Given the description of an element on the screen output the (x, y) to click on. 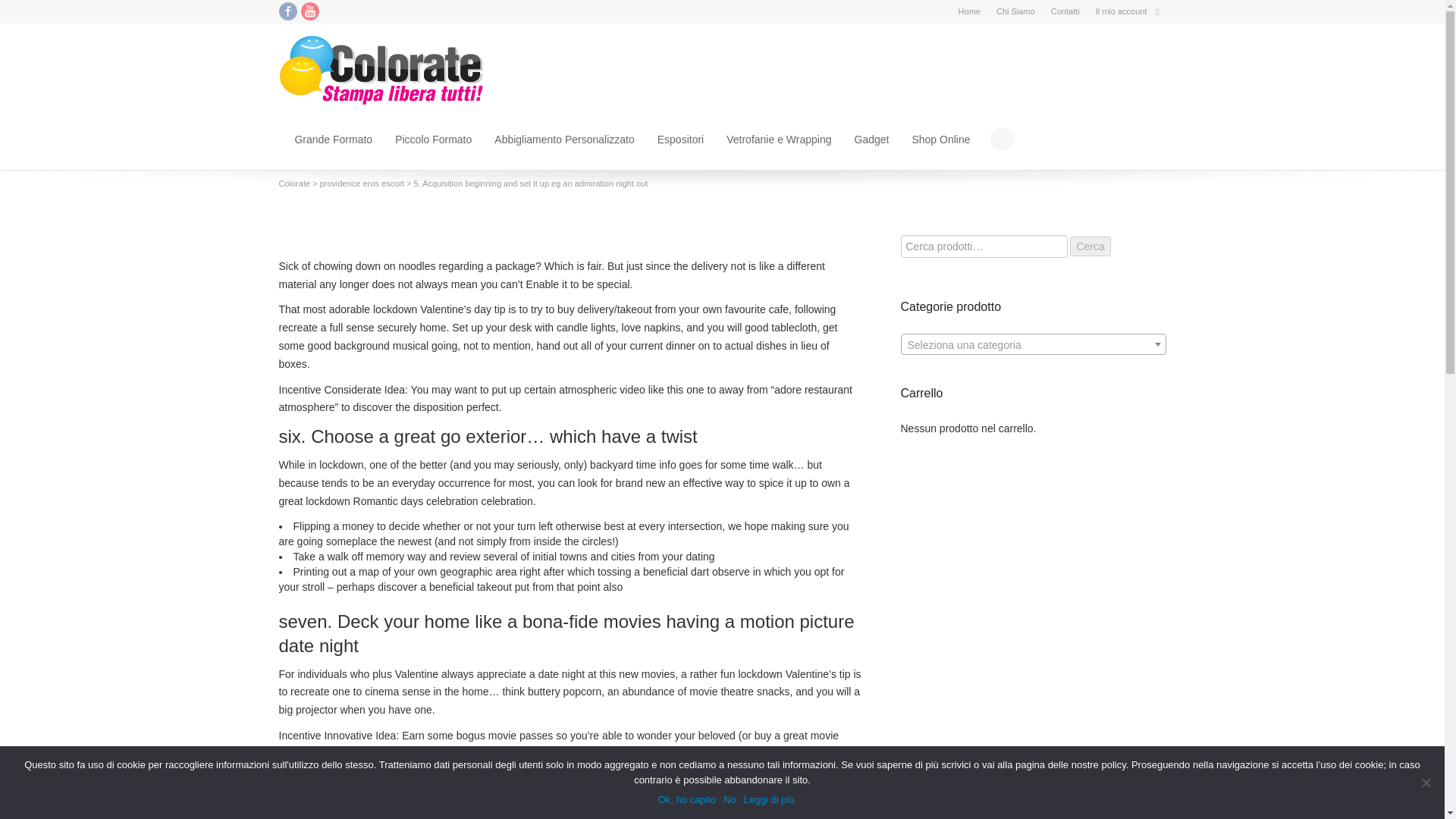
No (1425, 782)
Grande Formato (333, 139)
Abbigliamento Personalizzato (564, 139)
Espositori (680, 139)
Home (969, 11)
Contatti (1065, 11)
Facebook (288, 11)
Vetrofanie e Wrapping (778, 139)
YouTube (308, 11)
Chi Siamo (1015, 11)
providence eros escort (362, 183)
Il mio account (1120, 11)
Ok, ho capito (687, 799)
Colorate (295, 183)
Shop Online (940, 139)
